Given the description of an element on the screen output the (x, y) to click on. 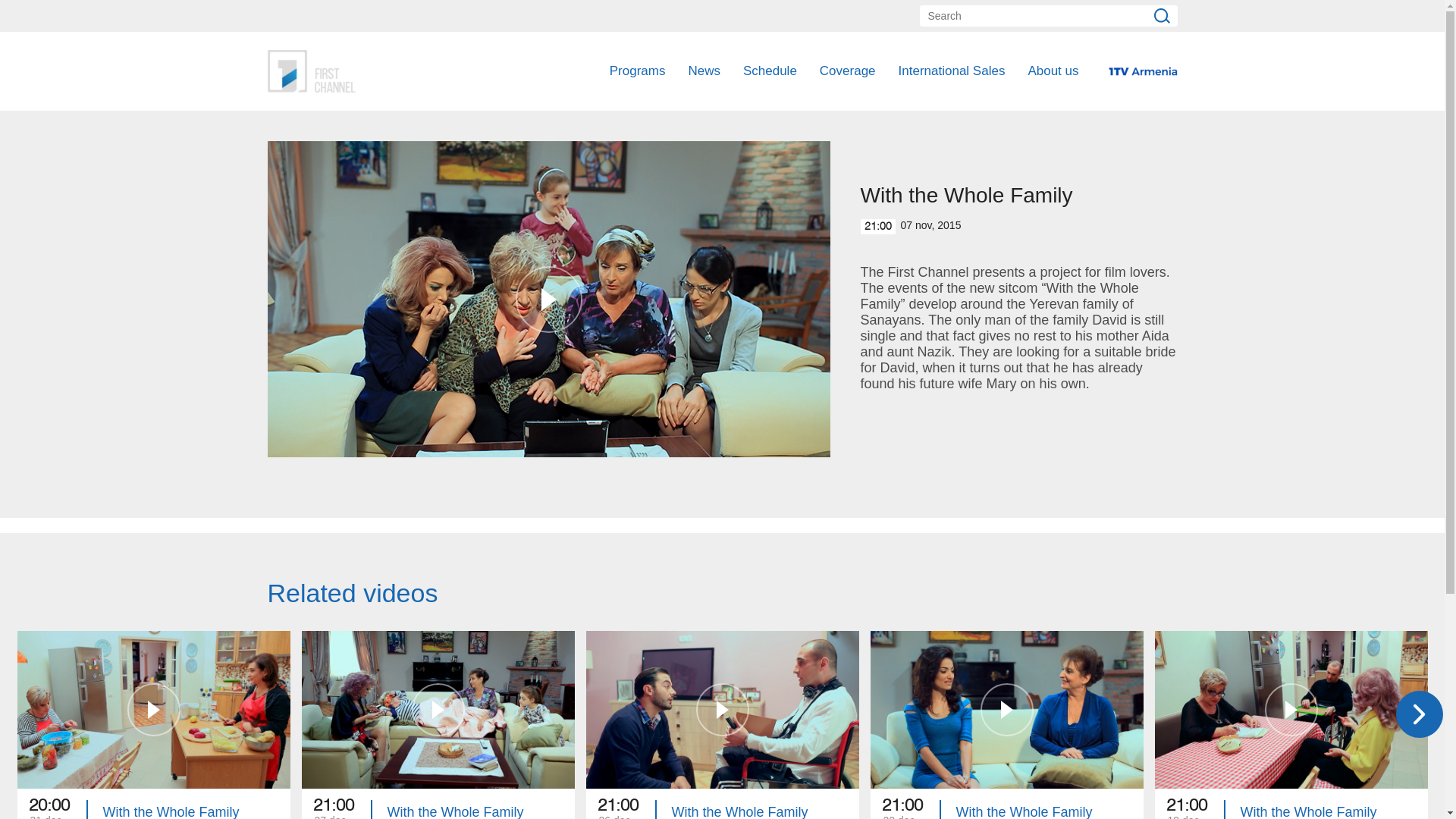
Coverage (847, 70)
News (703, 70)
Schedule (152, 724)
Programs (769, 70)
About us (637, 70)
Public TV Company of Armenia (1052, 70)
Public TV Company of Armenia (1290, 724)
International Sales (1006, 724)
